Given the description of an element on the screen output the (x, y) to click on. 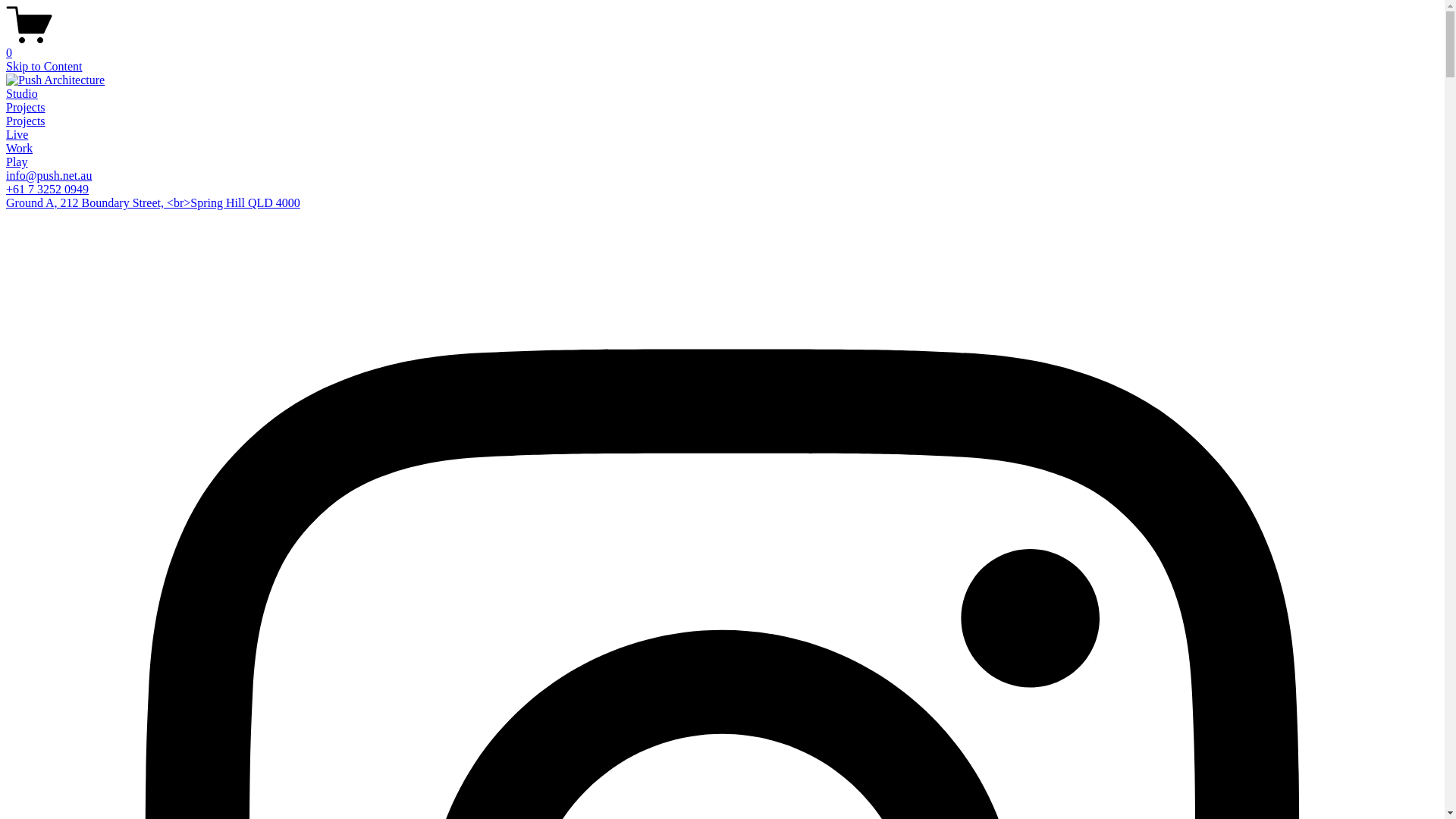
Skip to Content Element type: text (43, 65)
Live Element type: text (17, 134)
Play Element type: text (16, 161)
info@push.net.au Element type: text (48, 175)
Projects Element type: text (25, 106)
Ground A, 212 Boundary Street, <br>Spring Hill QLD 4000 Element type: text (153, 202)
Work Element type: text (19, 147)
0 Element type: text (722, 45)
Projects Element type: text (25, 120)
Studio Element type: text (21, 93)
+61 7 3252 0949 Element type: text (47, 188)
